Given the description of an element on the screen output the (x, y) to click on. 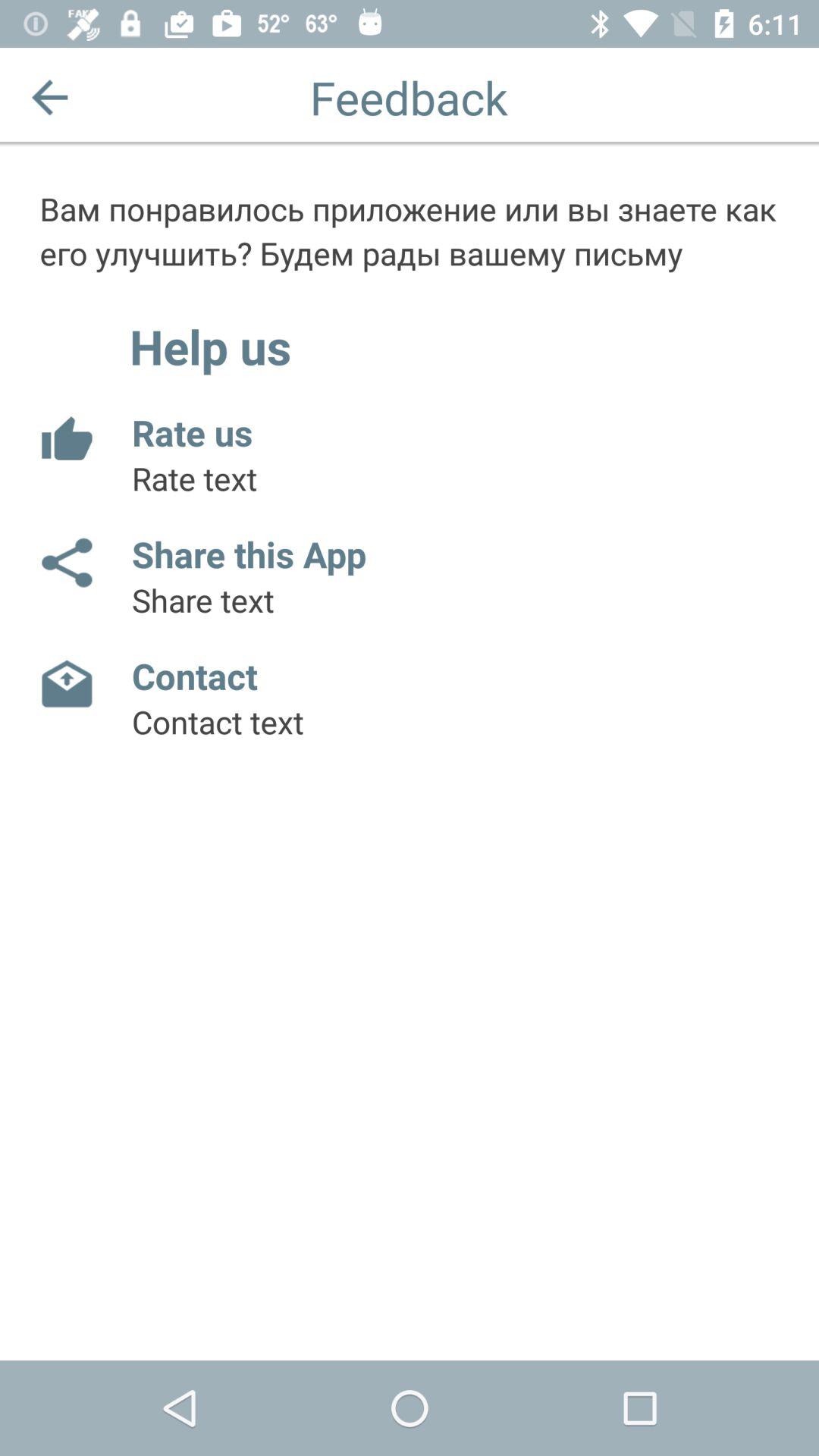
press the icon to the left of the feedback item (49, 97)
